Given the description of an element on the screen output the (x, y) to click on. 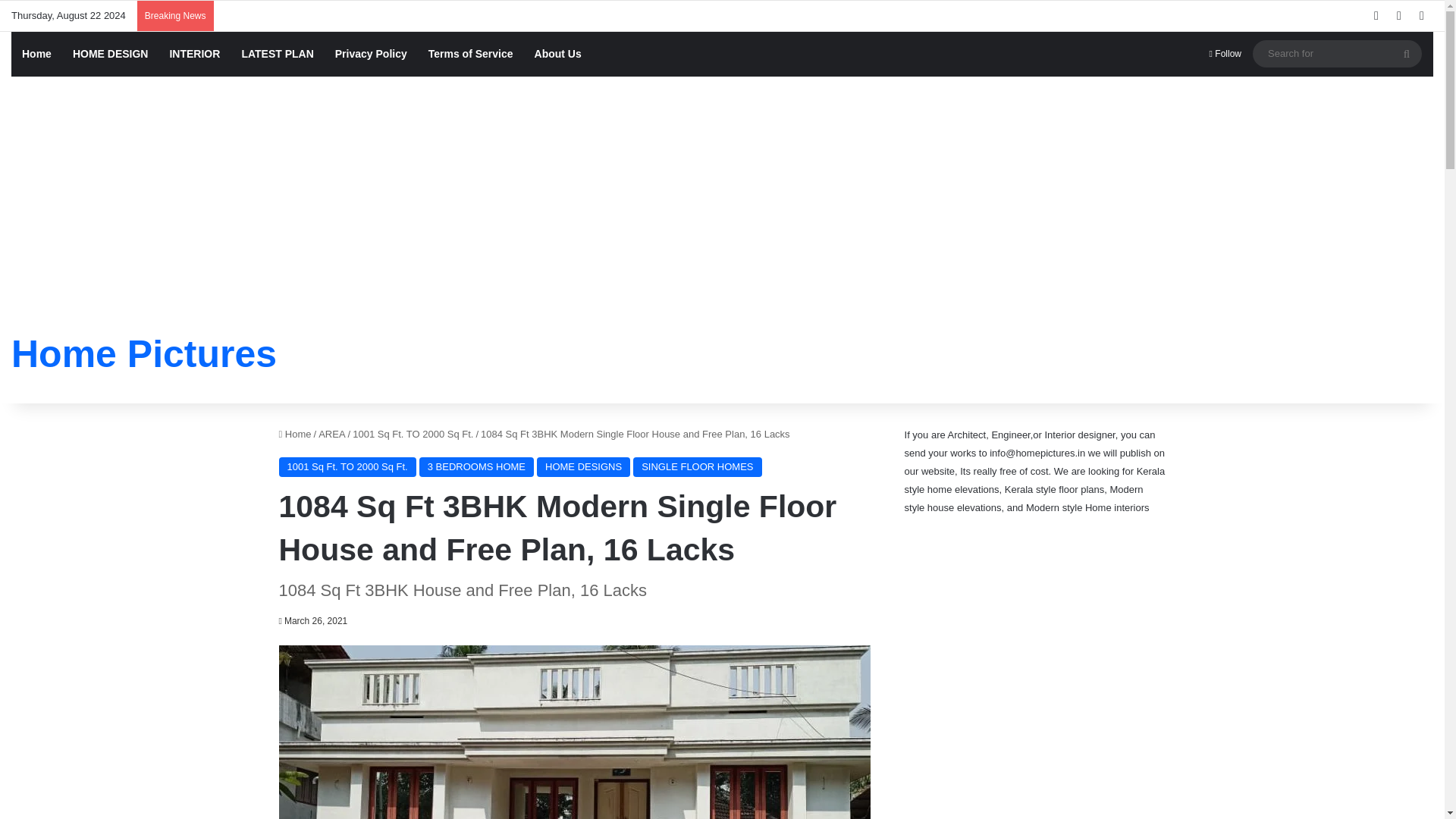
INTERIOR (194, 53)
LATEST PLAN (276, 53)
3 BEDROOMS HOME (476, 466)
HOME DESIGNS (583, 466)
Home Pictures (143, 353)
Privacy Policy (370, 53)
Home Pictures (143, 353)
SINGLE FLOOR HOMES (697, 466)
AREA (331, 433)
